Given the description of an element on the screen output the (x, y) to click on. 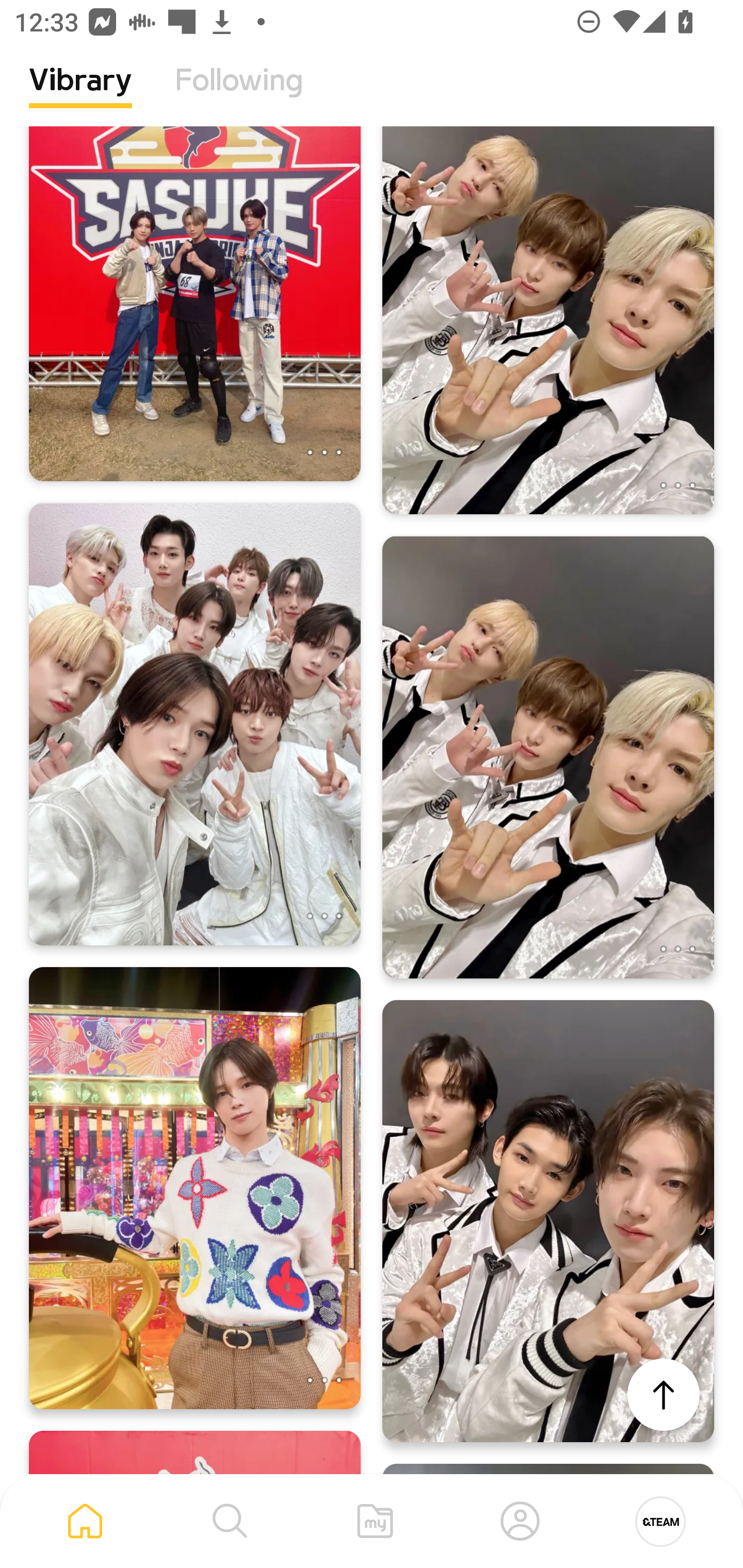
Vibrary (80, 95)
Following (239, 95)
